Given the description of an element on the screen output the (x, y) to click on. 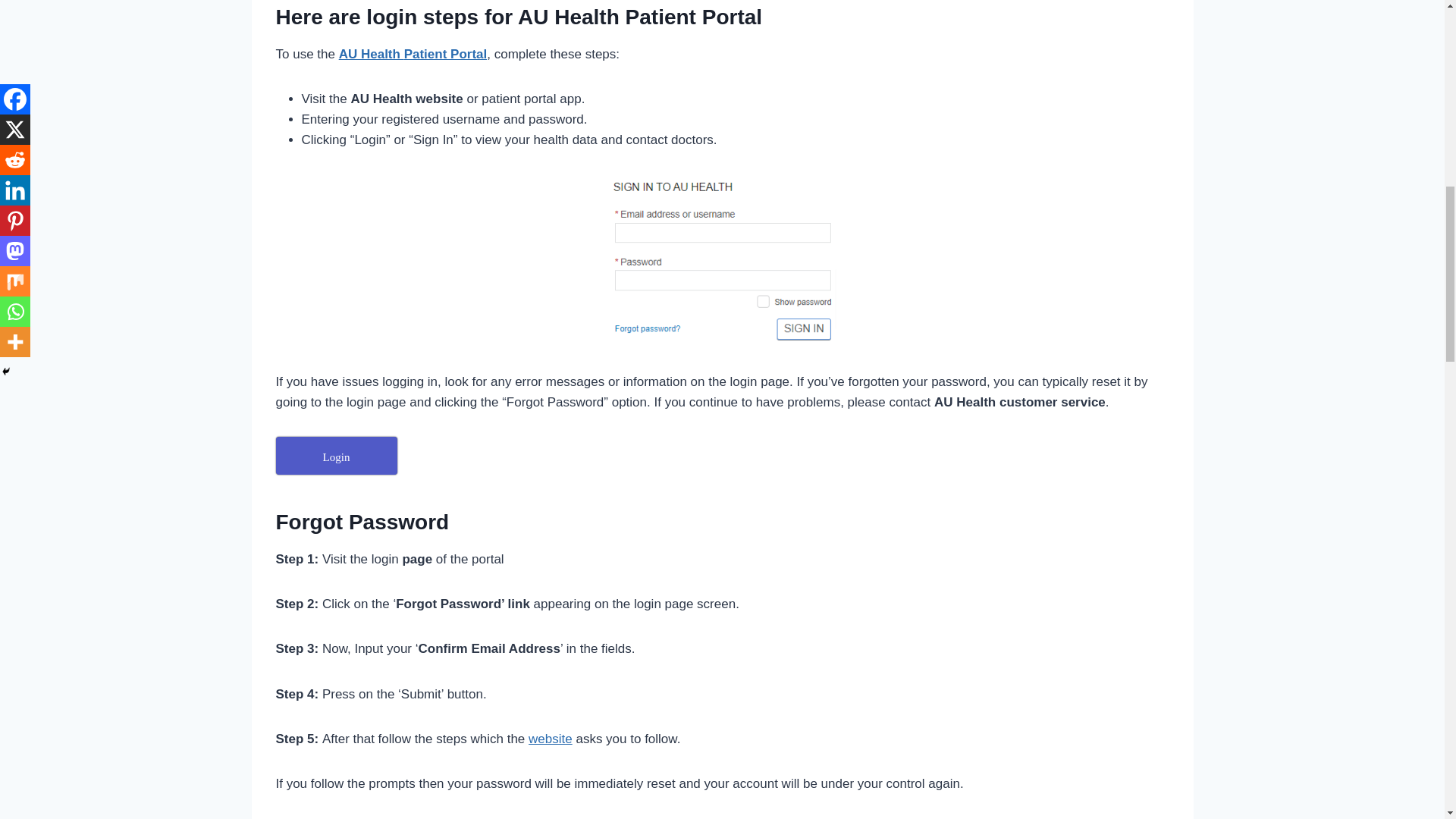
Login (336, 455)
AU Health Patient Portal (413, 53)
website (550, 739)
Login (336, 455)
